Given the description of an element on the screen output the (x, y) to click on. 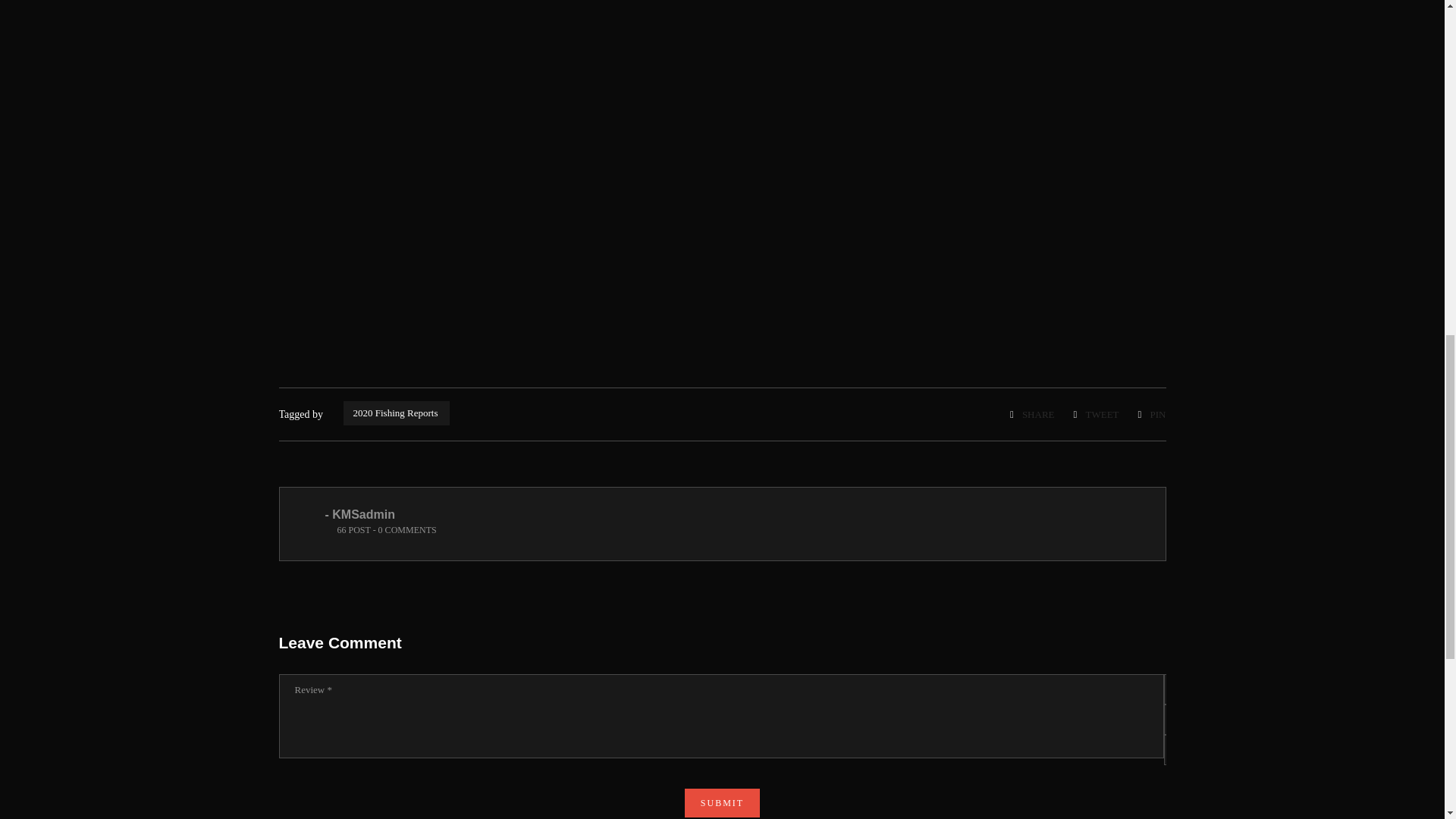
Submit (722, 802)
2020 Fishing Reports (396, 413)
Submit (722, 802)
- KMSadmin (359, 513)
